Given the description of an element on the screen output the (x, y) to click on. 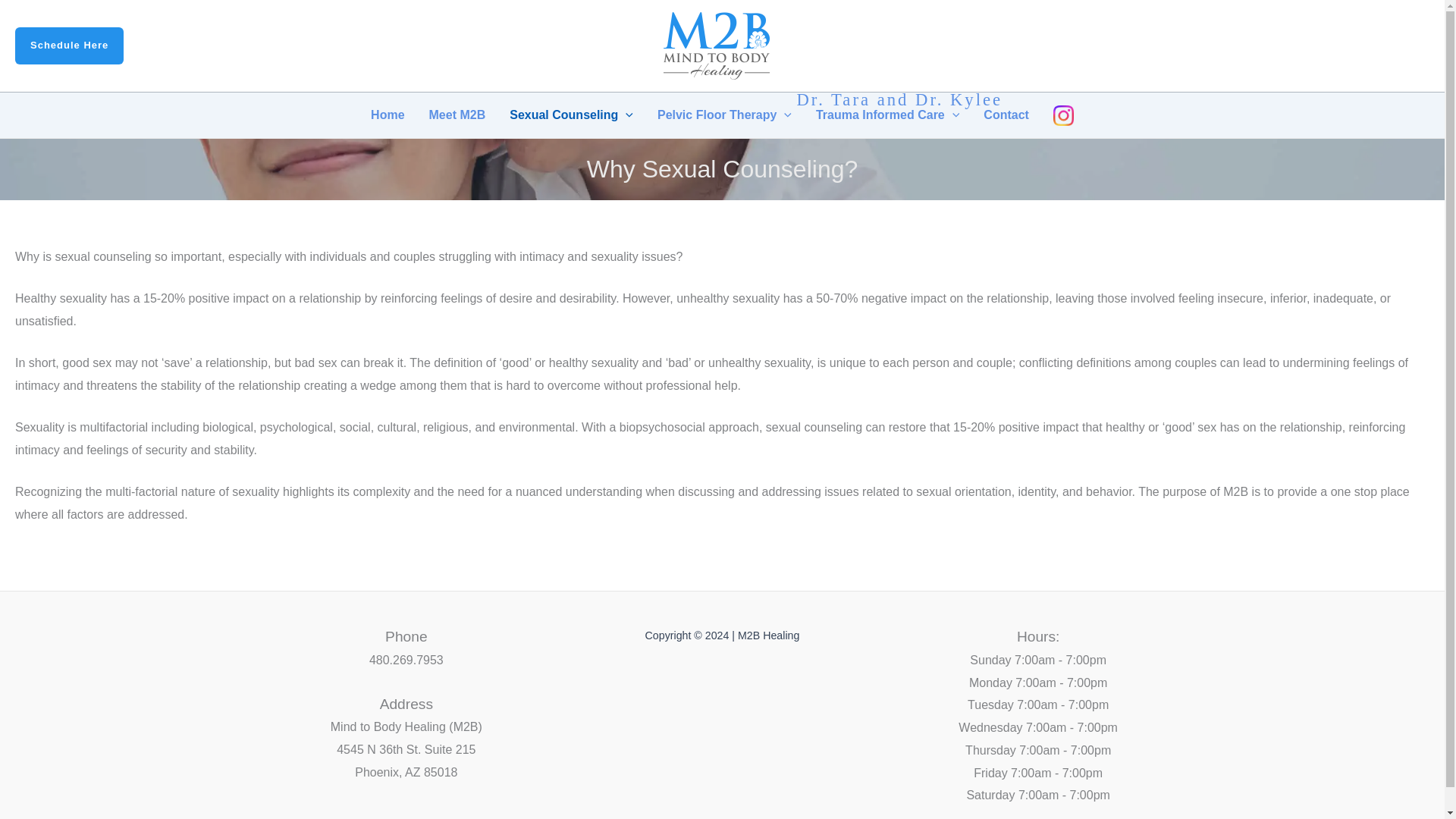
Schedule Here (68, 45)
Home (387, 115)
Meet M2B (456, 115)
Pelvic Floor Therapy (724, 115)
Sexual Counseling (571, 115)
